Given the description of an element on the screen output the (x, y) to click on. 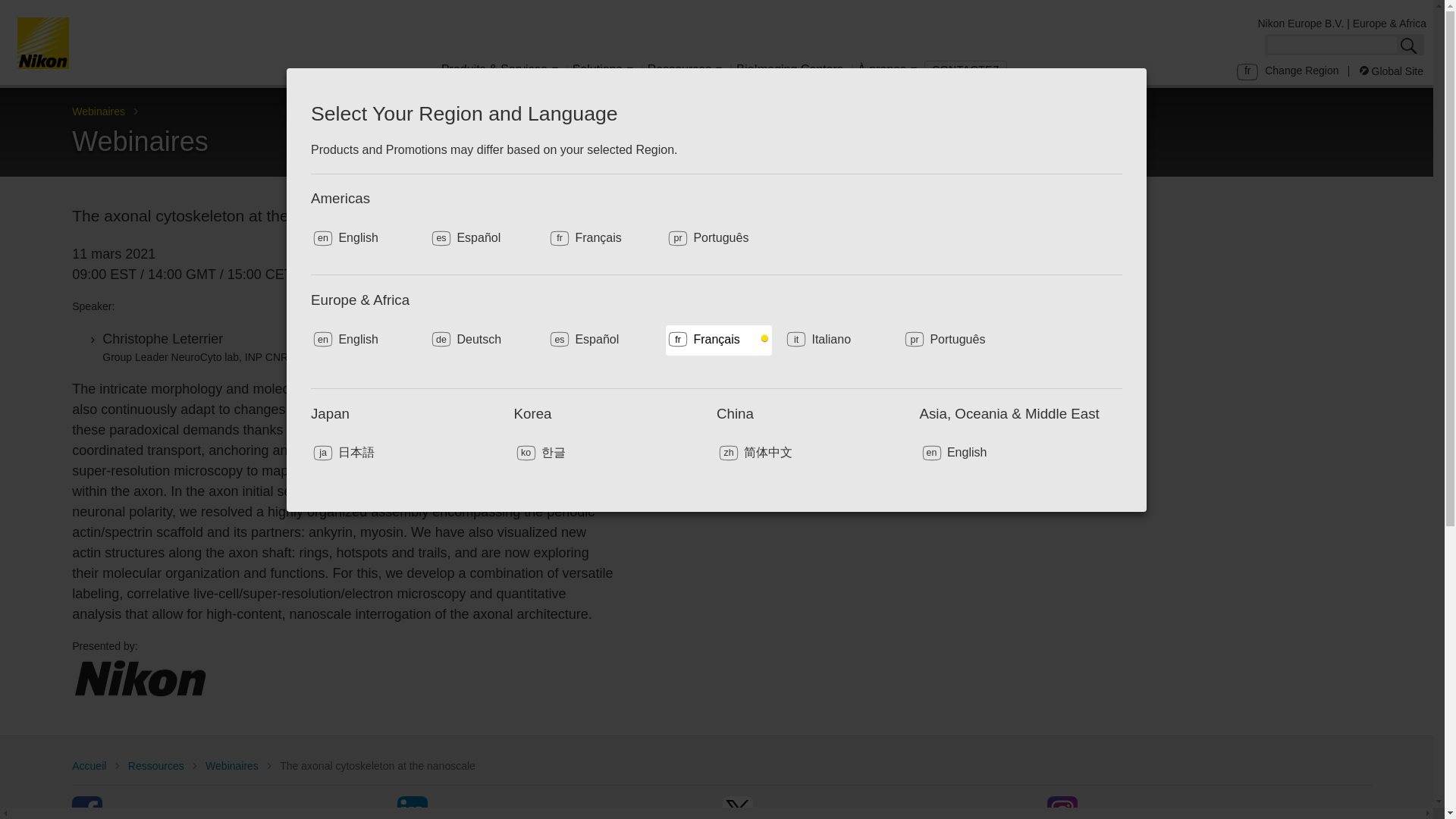
Global Site (1391, 70)
Ressources (684, 72)
Solutions (603, 72)
BioImaging Centers (789, 72)
CONTACTEZ (965, 69)
Nikon (139, 678)
